Given the description of an element on the screen output the (x, y) to click on. 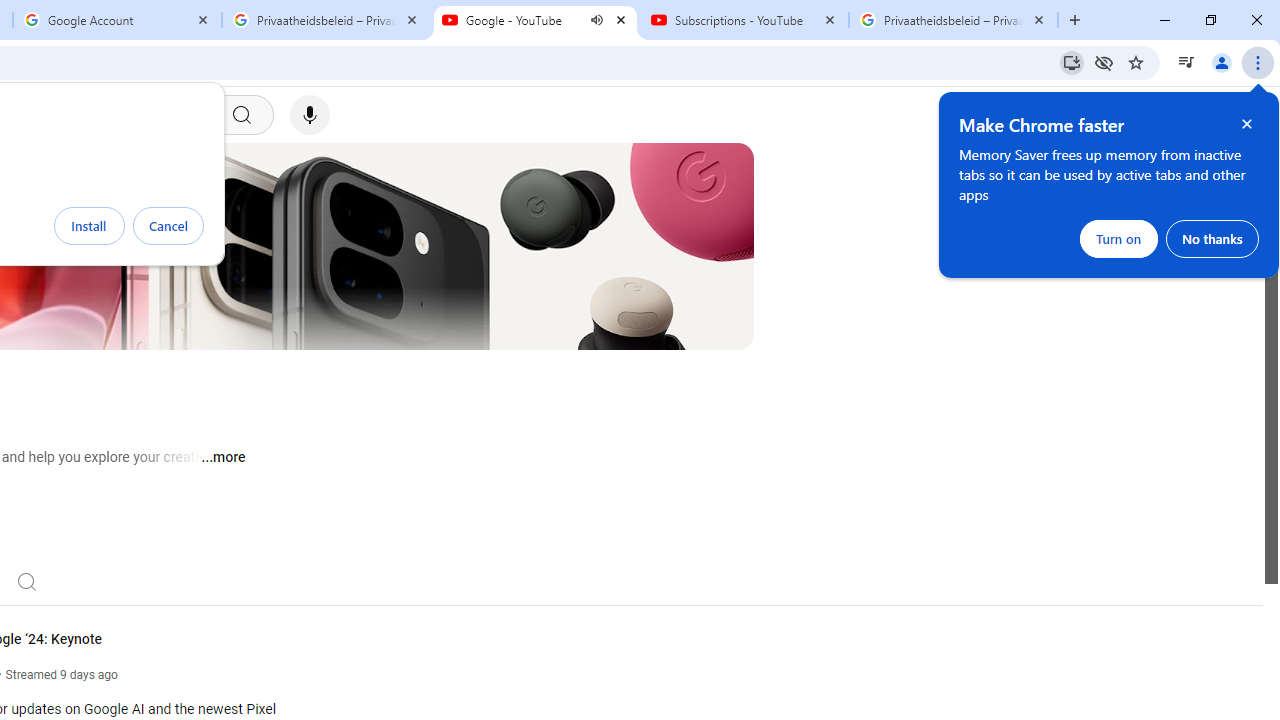
Turn on (1119, 238)
Install YouTube (1071, 62)
Subscriptions - YouTube (744, 20)
Install (89, 225)
Search with your voice (309, 115)
